Given the description of an element on the screen output the (x, y) to click on. 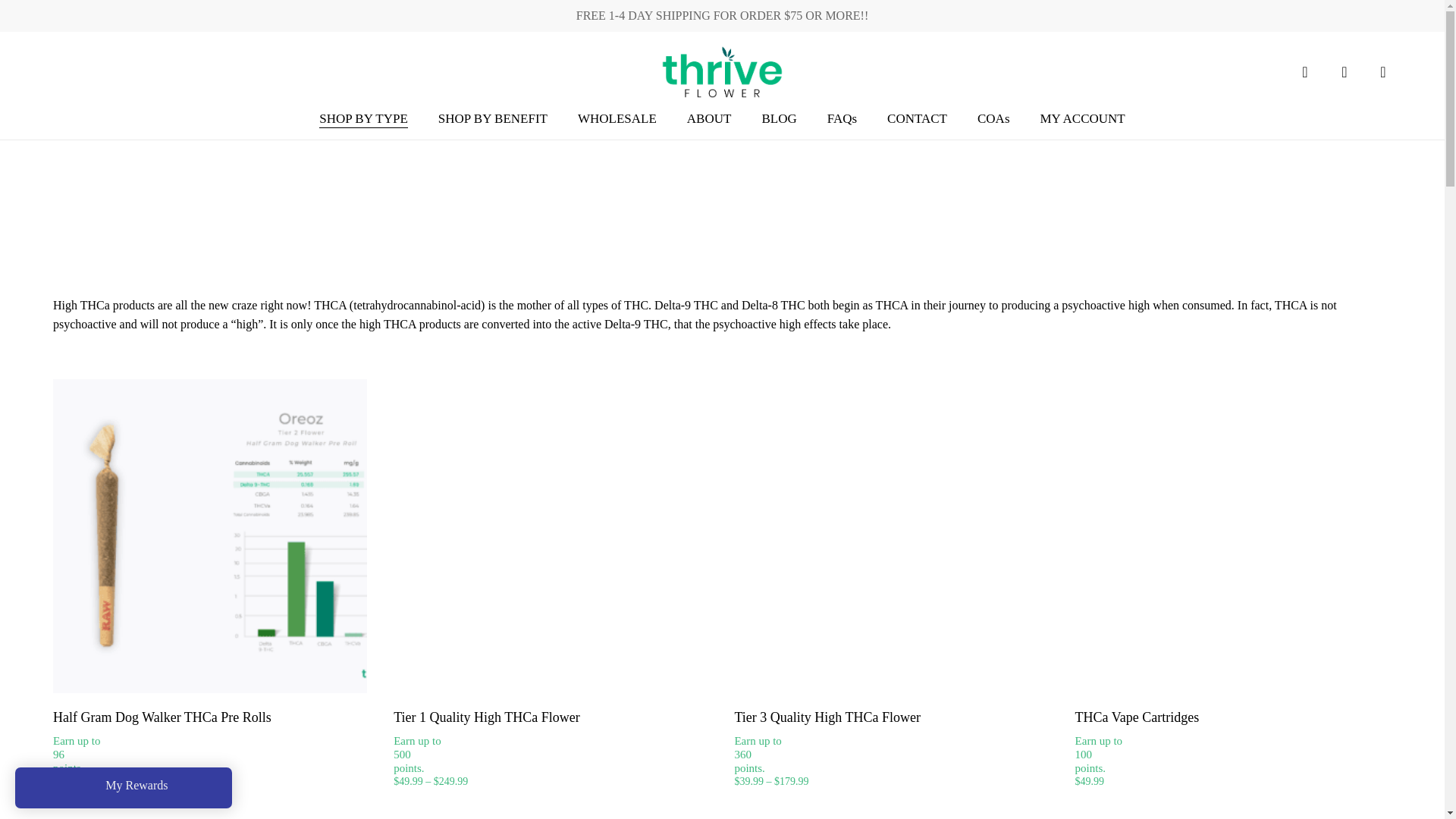
search (1304, 71)
FAQs (842, 119)
BLOG (778, 119)
account (1344, 71)
WHOLESALE (617, 119)
ABOUT (709, 119)
CONTACT (916, 119)
COAs (993, 119)
SHOP BY BENEFIT (492, 119)
SHOP BY TYPE (362, 119)
